Given the description of an element on the screen output the (x, y) to click on. 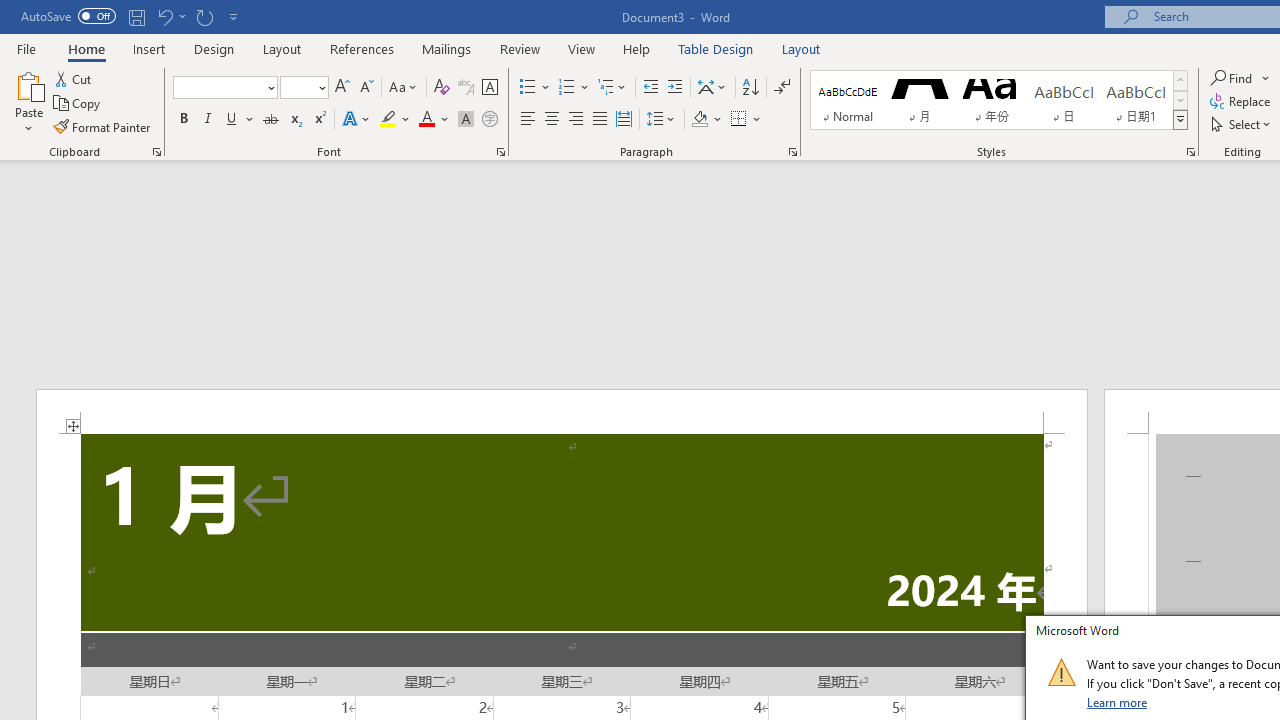
Decrease Indent (650, 87)
Styles (1179, 120)
Line and Paragraph Spacing (661, 119)
Select (1242, 124)
Row Down (1179, 100)
Shading RGB(0, 0, 0) (699, 119)
Multilevel List (613, 87)
Text Highlight Color Yellow (388, 119)
